Given the description of an element on the screen output the (x, y) to click on. 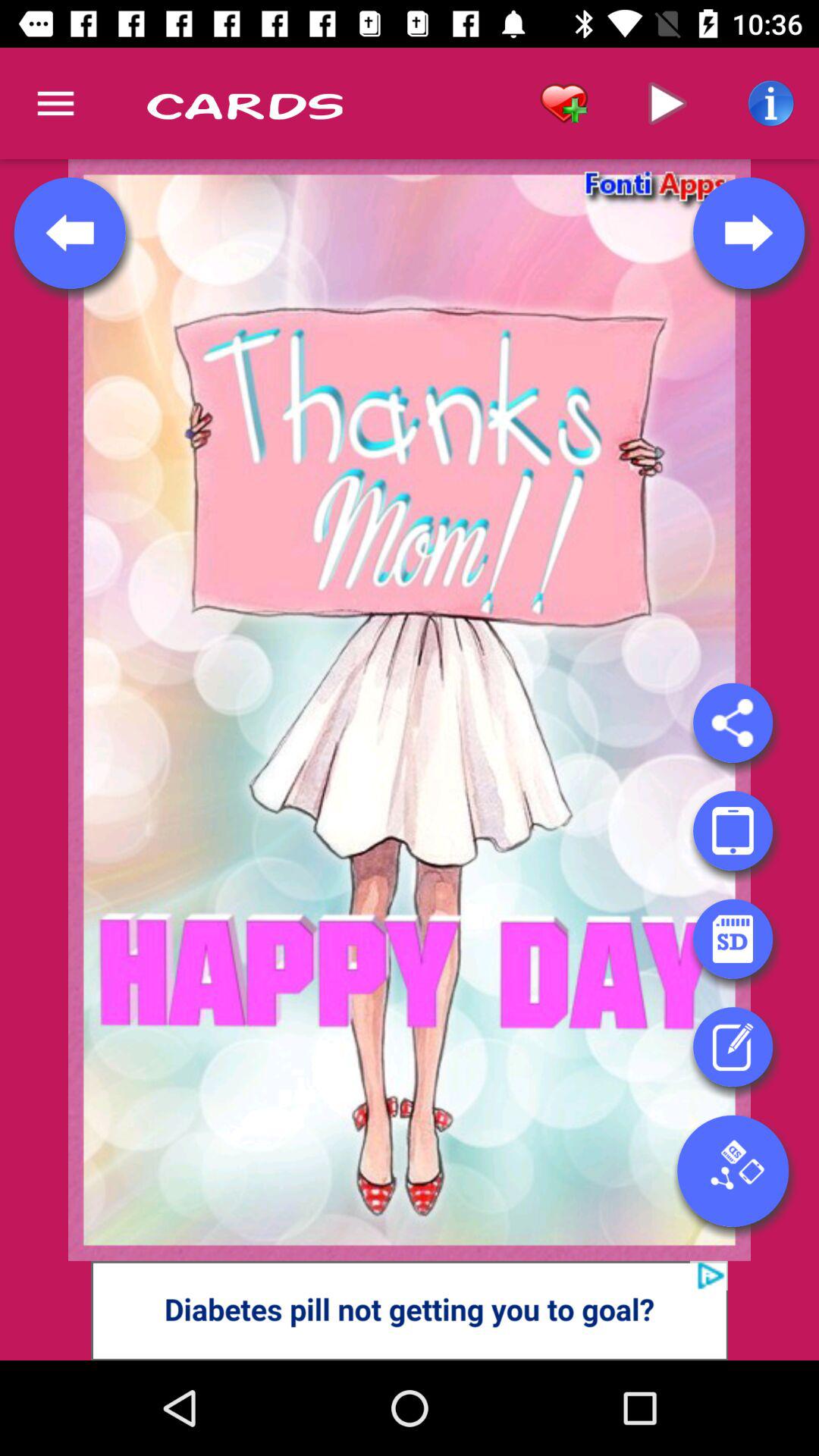
next slide (749, 233)
